Given the description of an element on the screen output the (x, y) to click on. 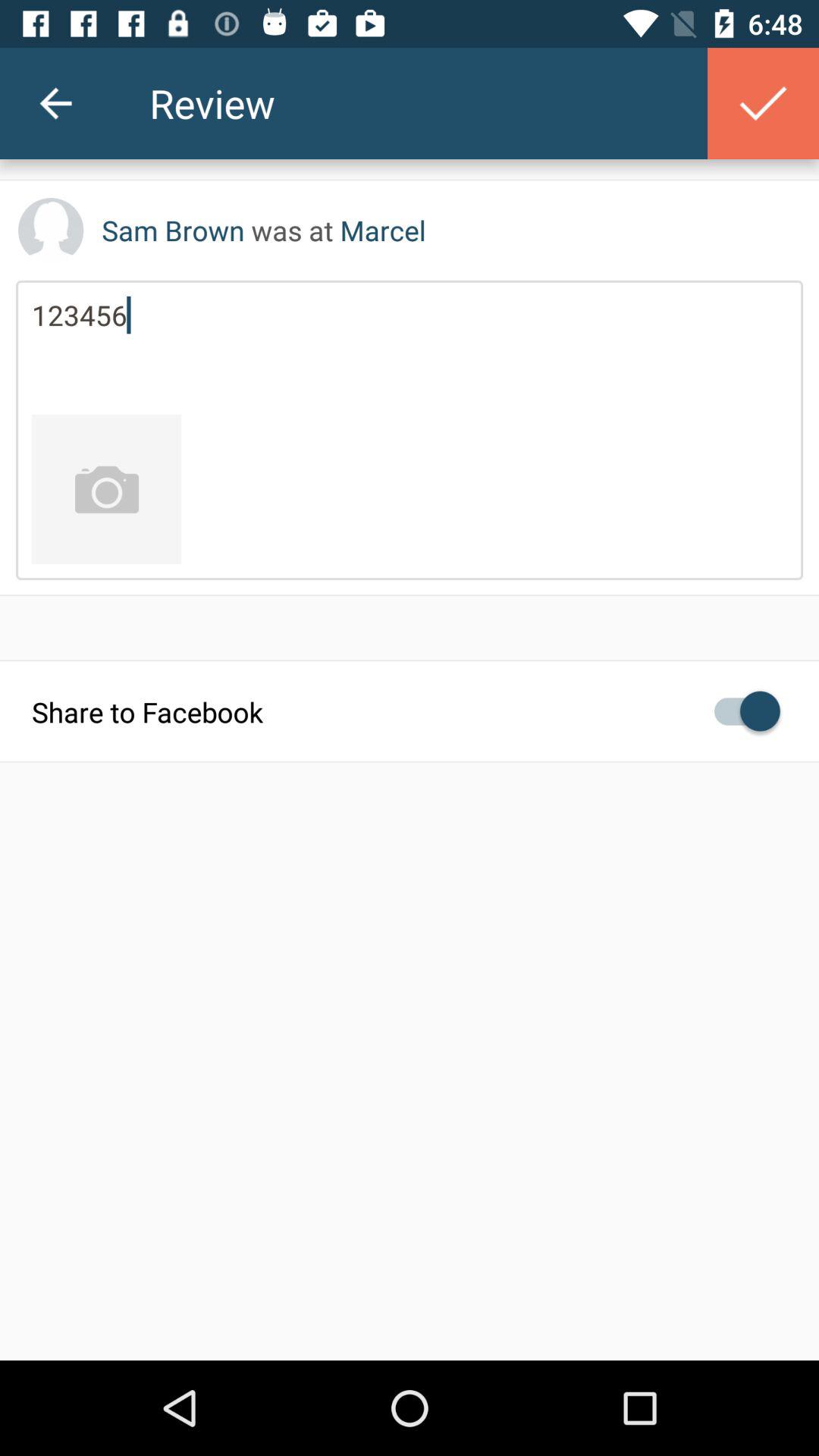
press share to facebook icon (409, 710)
